Given the description of an element on the screen output the (x, y) to click on. 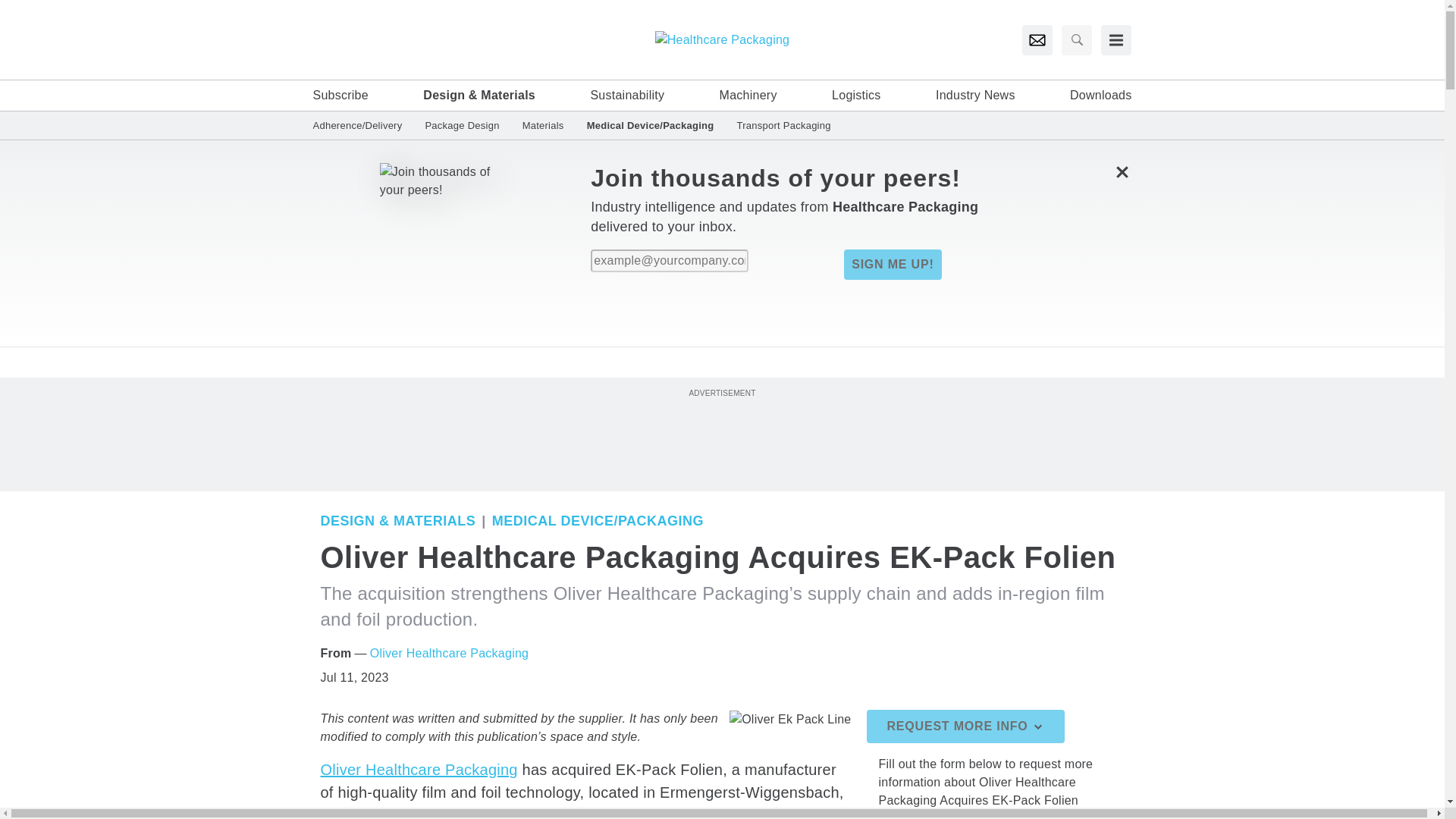
SIGN ME UP! (892, 264)
Logistics (855, 95)
Machinery (748, 95)
Package Design (462, 125)
Subscribe (340, 95)
Transport Packaging (777, 125)
Materials (543, 125)
Downloads (1100, 95)
Sustainability (626, 95)
Industry News (975, 95)
